Given the description of an element on the screen output the (x, y) to click on. 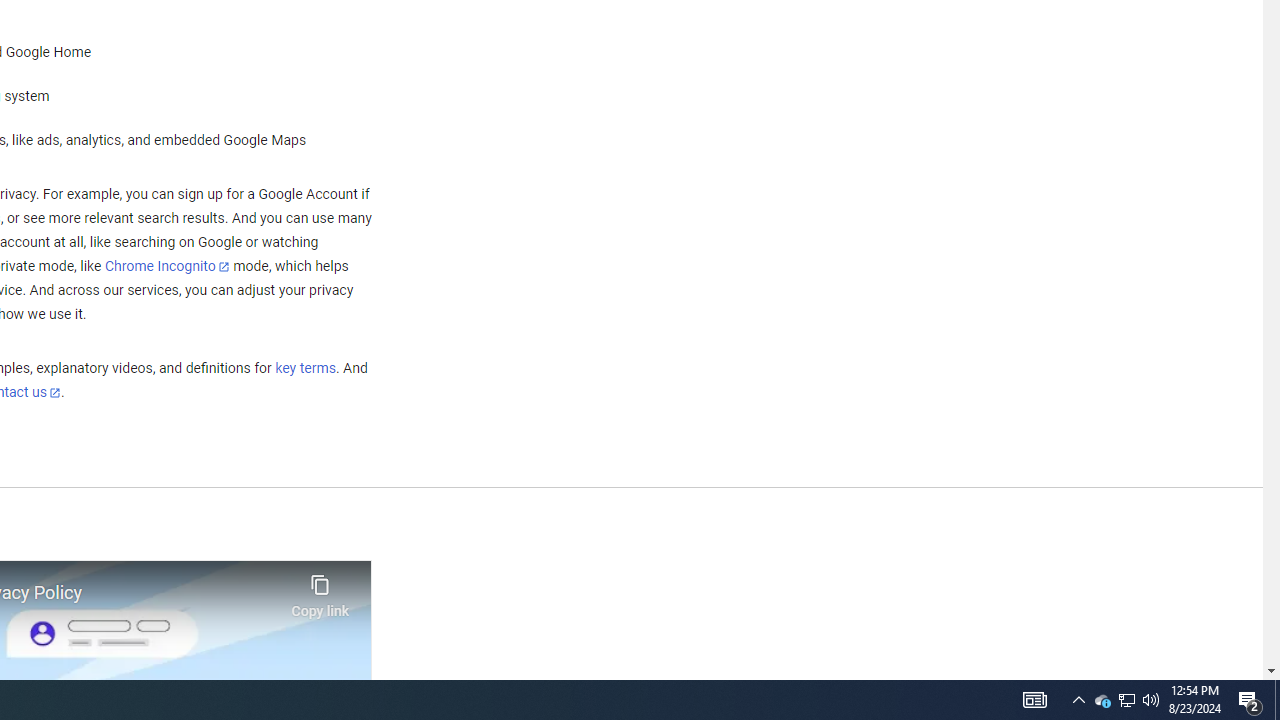
Copy link (319, 591)
Chrome Incognito (166, 266)
key terms (305, 369)
